Given the description of an element on the screen output the (x, y) to click on. 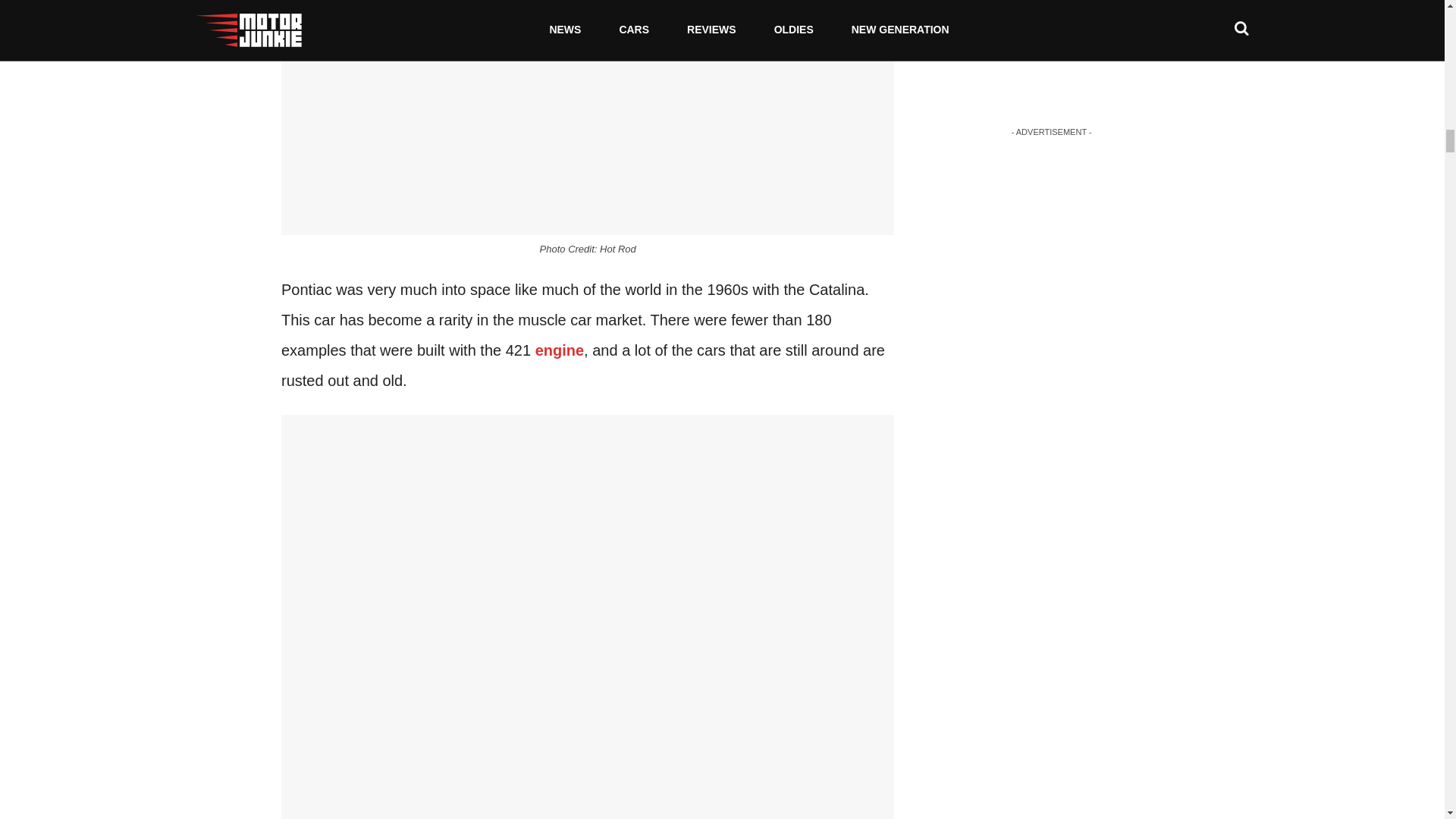
engine (559, 350)
